Given the description of an element on the screen output the (x, y) to click on. 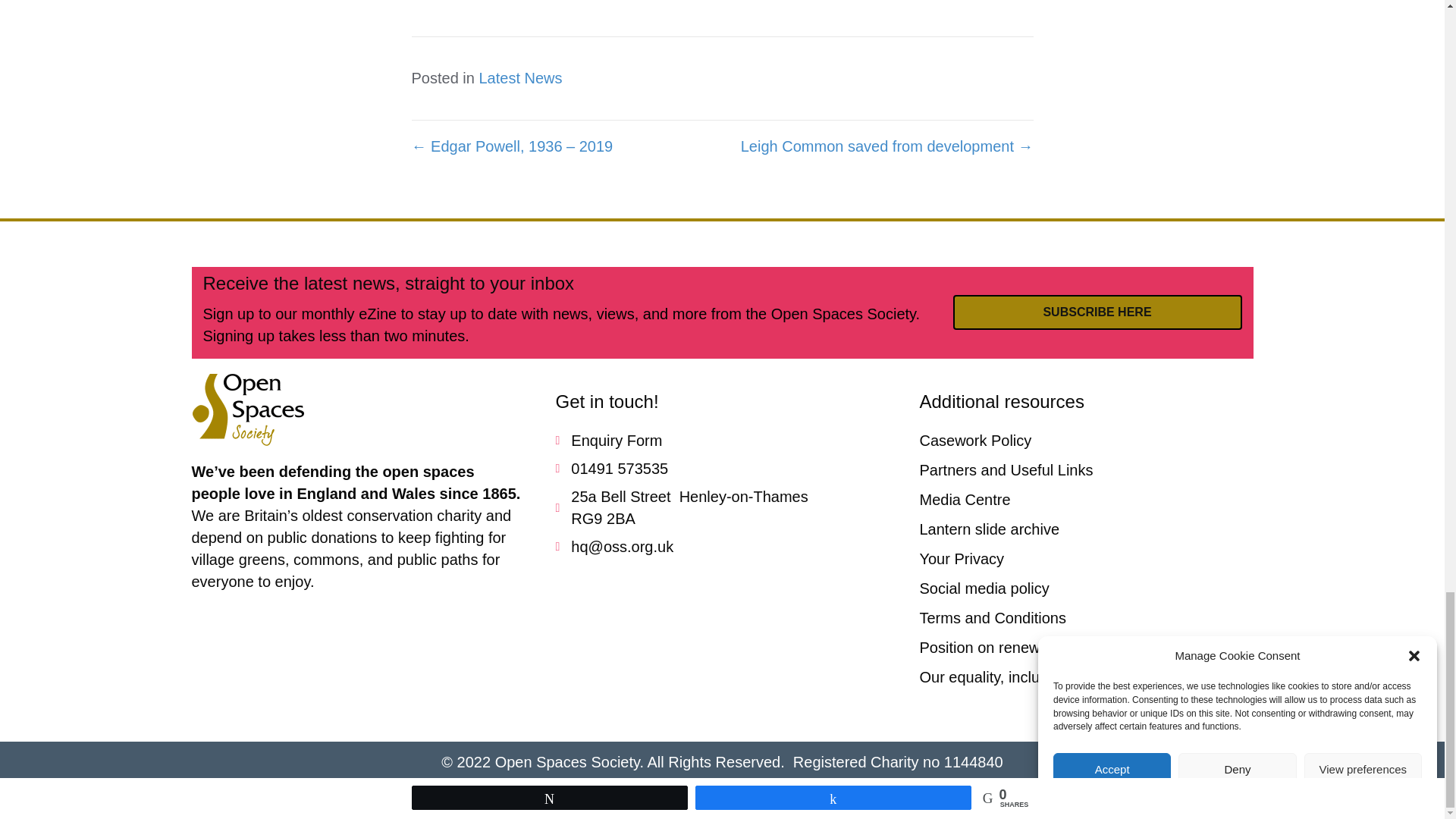
oss-logo (247, 409)
